Given the description of an element on the screen output the (x, y) to click on. 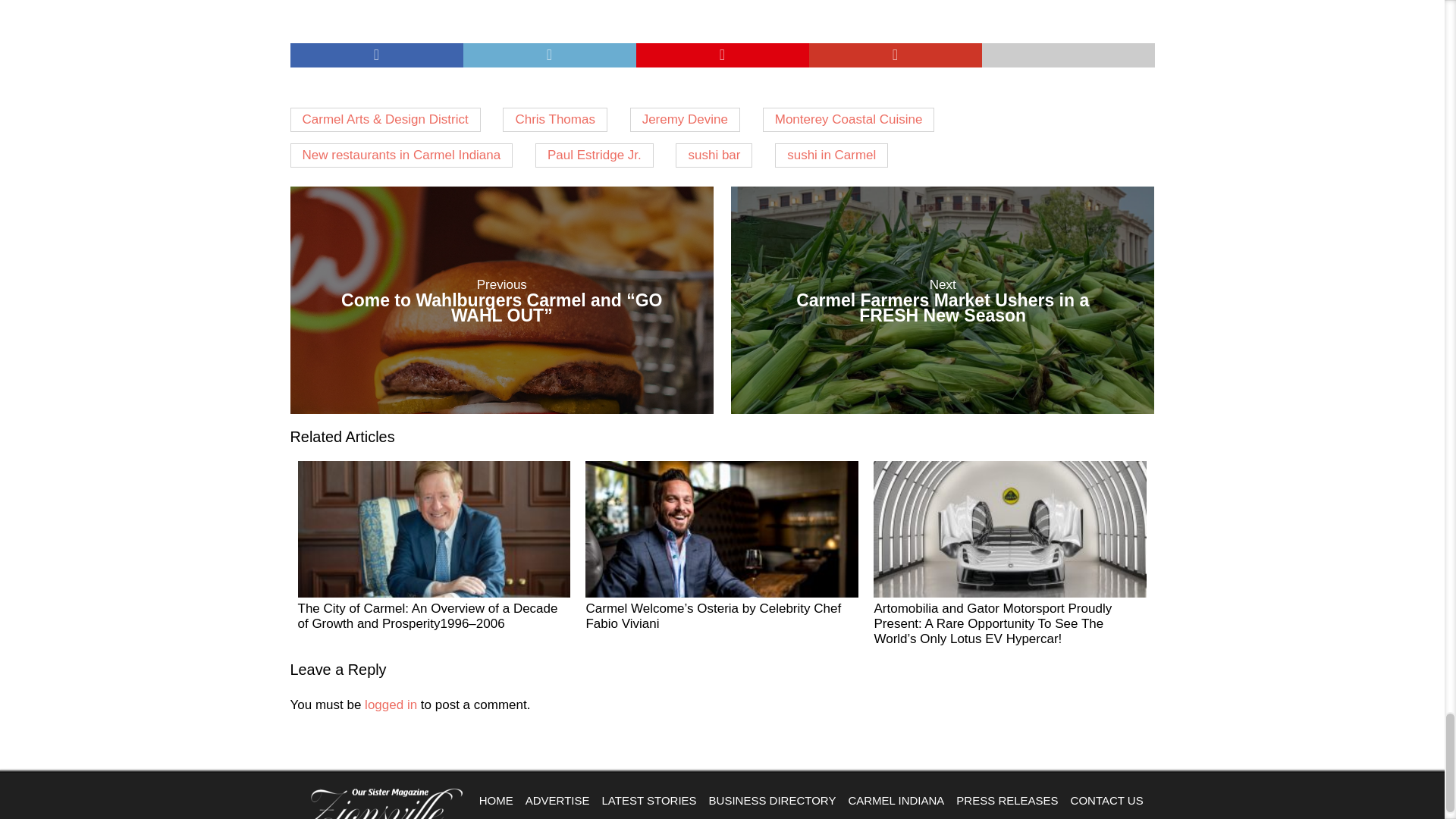
Send this article to a friend (1067, 55)
New restaurants in Carmel Indiana (400, 155)
Share on Facebook (376, 55)
Tweet This Post (548, 55)
Monterey Coastal Cuisine (848, 119)
sushi bar (713, 155)
Pin This Post (721, 55)
sushi in Carmel (831, 155)
Chris Thomas (942, 300)
